Given the description of an element on the screen output the (x, y) to click on. 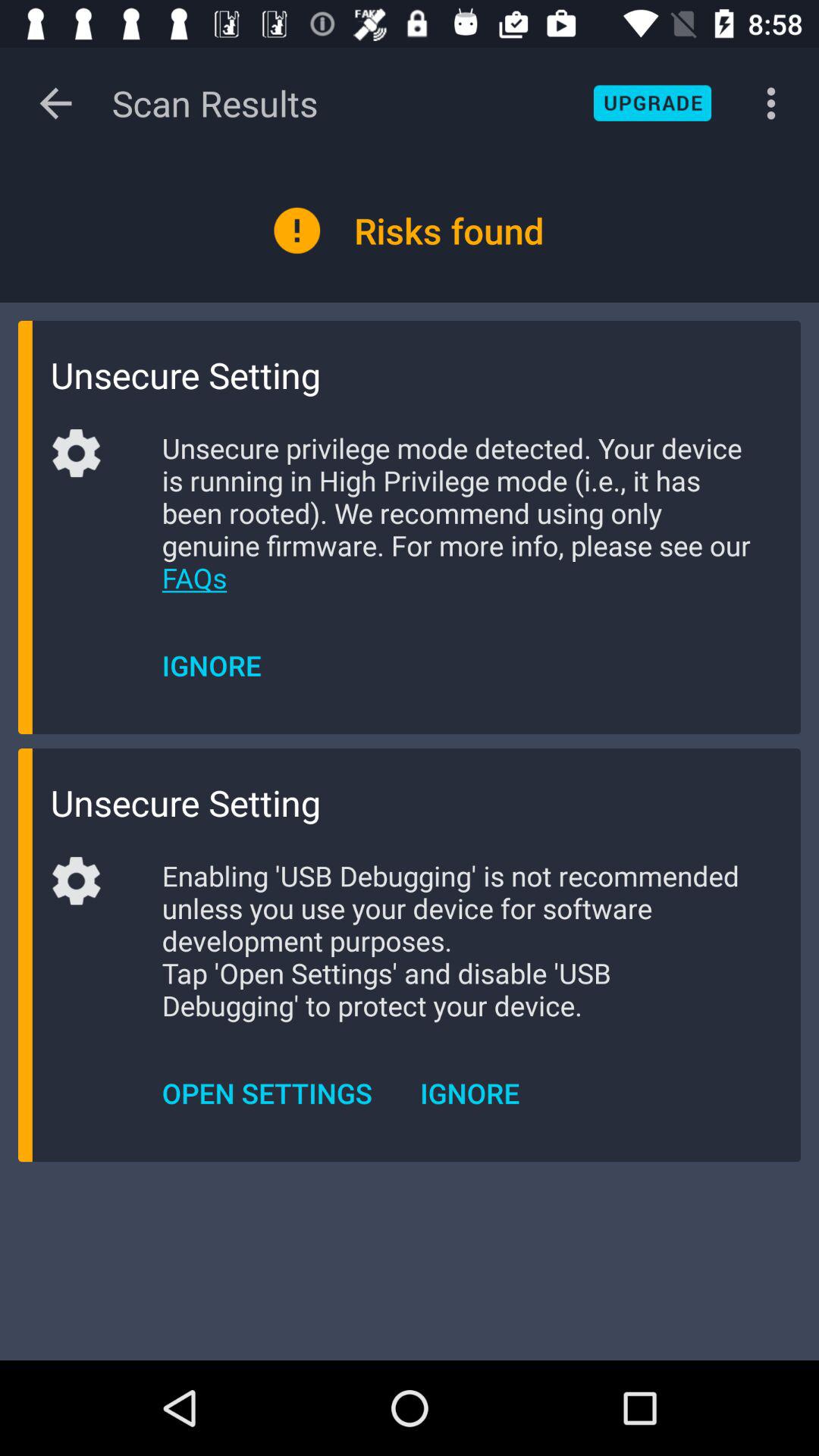
turn on the item next to scan results item (55, 103)
